Given the description of an element on the screen output the (x, y) to click on. 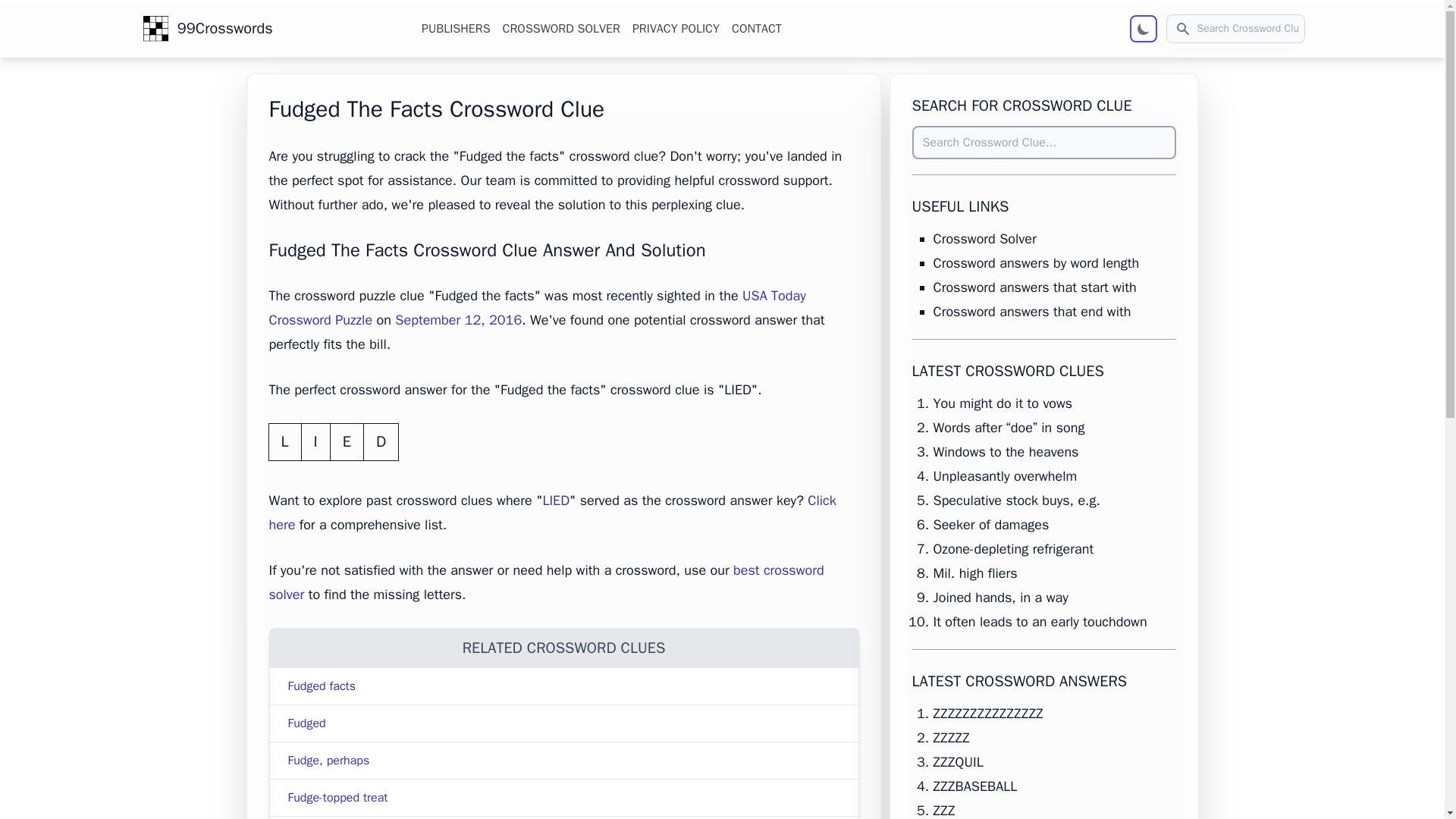
PRIVACY POLICY (675, 28)
best crossword solver (545, 581)
September 12, 2016 (457, 320)
Fudge, perhaps (328, 760)
99Crosswords (215, 27)
Fudged (307, 723)
Fudged facts (321, 685)
Click here (551, 512)
USA Today Crossword Puzzle (536, 307)
Crossword answers that start with (1034, 287)
CROSSWORD SOLVER (561, 28)
Crossword answers by word length (1035, 262)
Crossword Solver (984, 238)
PUBLISHERS (455, 28)
Fudge-topped treat (338, 797)
